Given the description of an element on the screen output the (x, y) to click on. 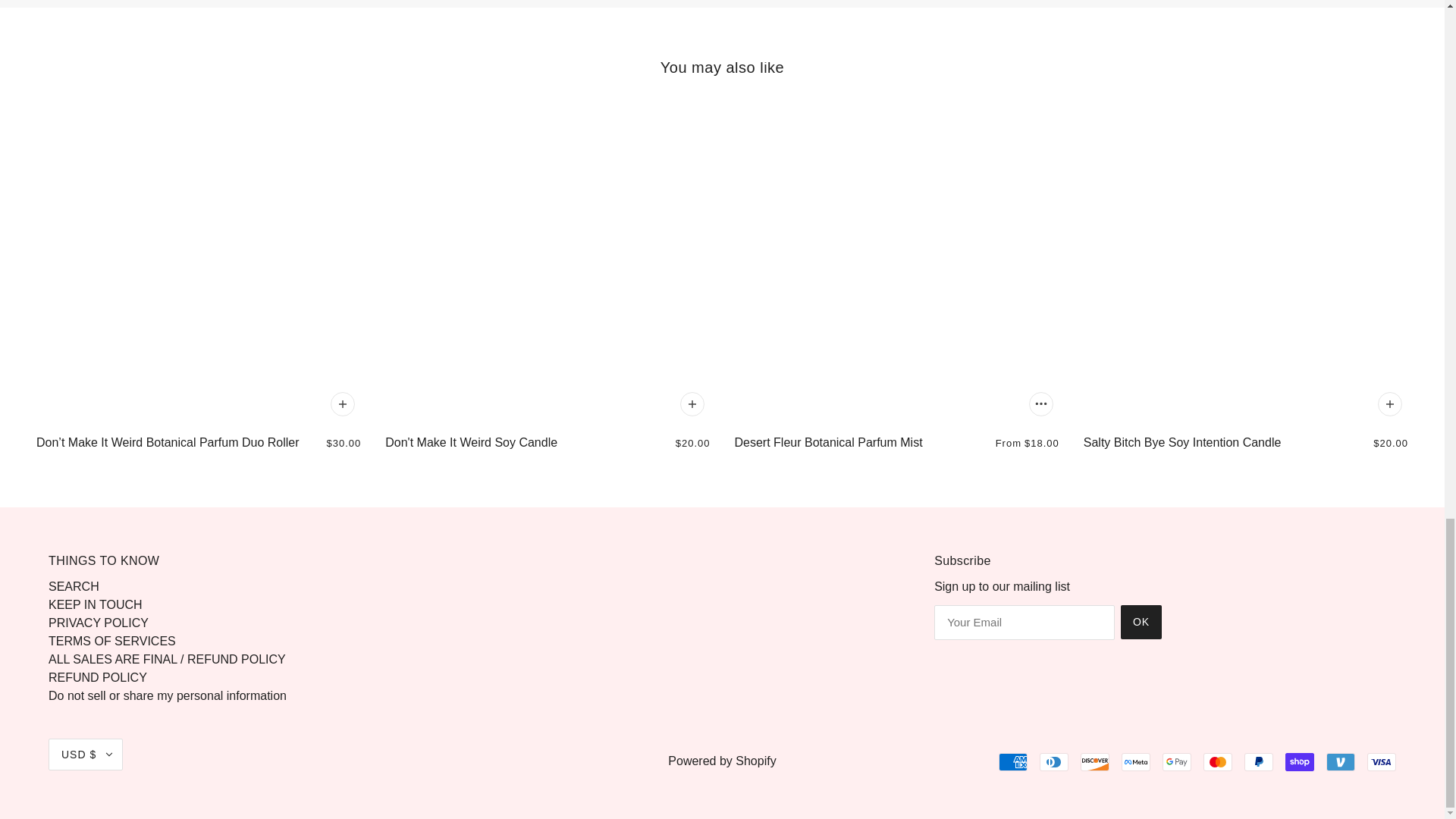
Mastercard (1217, 761)
PRIVACY POLICY  (98, 622)
Diners Club (1053, 761)
American Express (1012, 761)
TERMS OF SERVICES (112, 640)
SEARCH (73, 585)
Google Pay (1176, 761)
REFUND POLICY (97, 676)
Venmo (1340, 761)
KEEP IN TOUCH (95, 604)
